Given the description of an element on the screen output the (x, y) to click on. 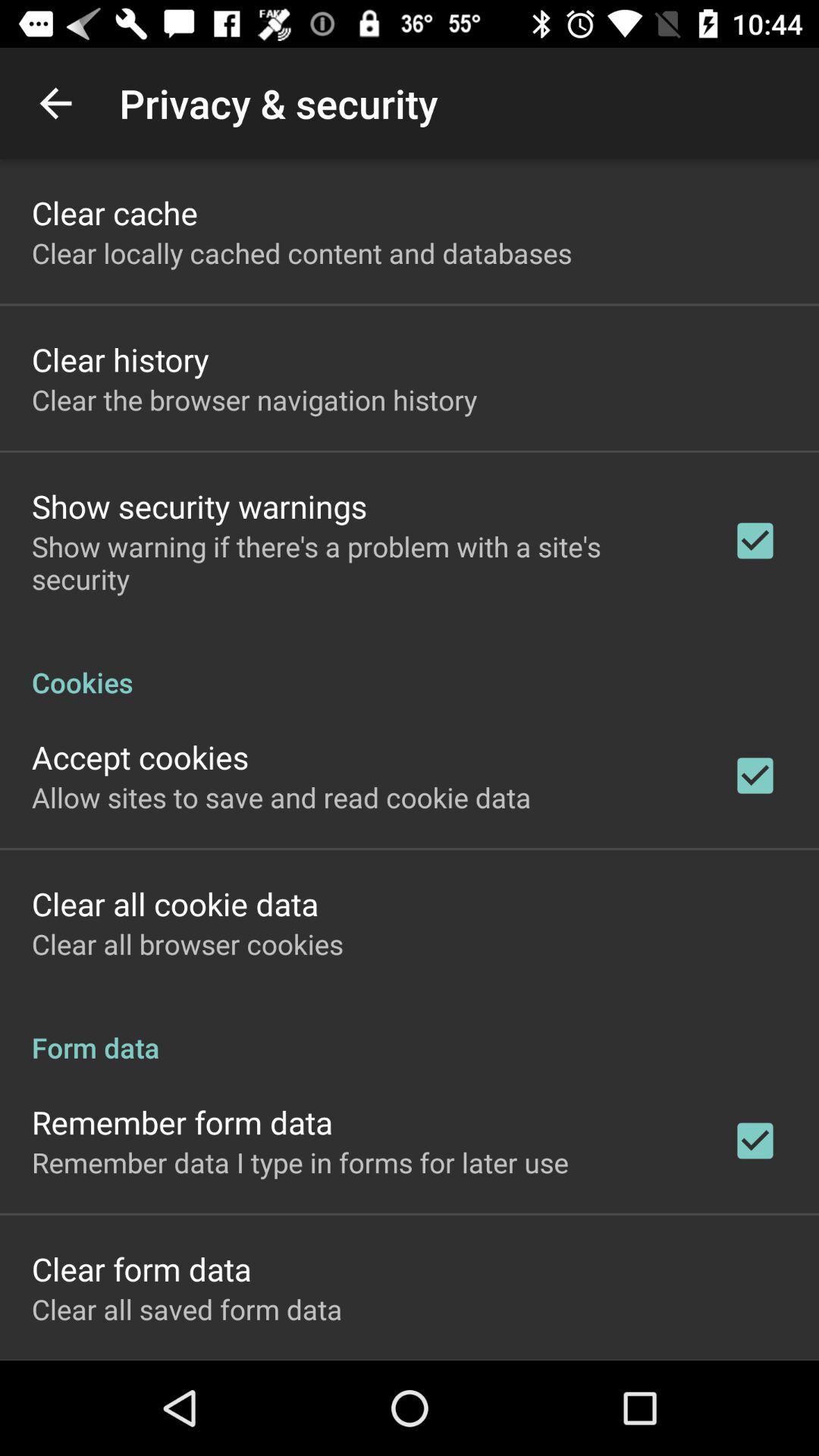
turn on the accept cookies item (140, 756)
